Given the description of an element on the screen output the (x, y) to click on. 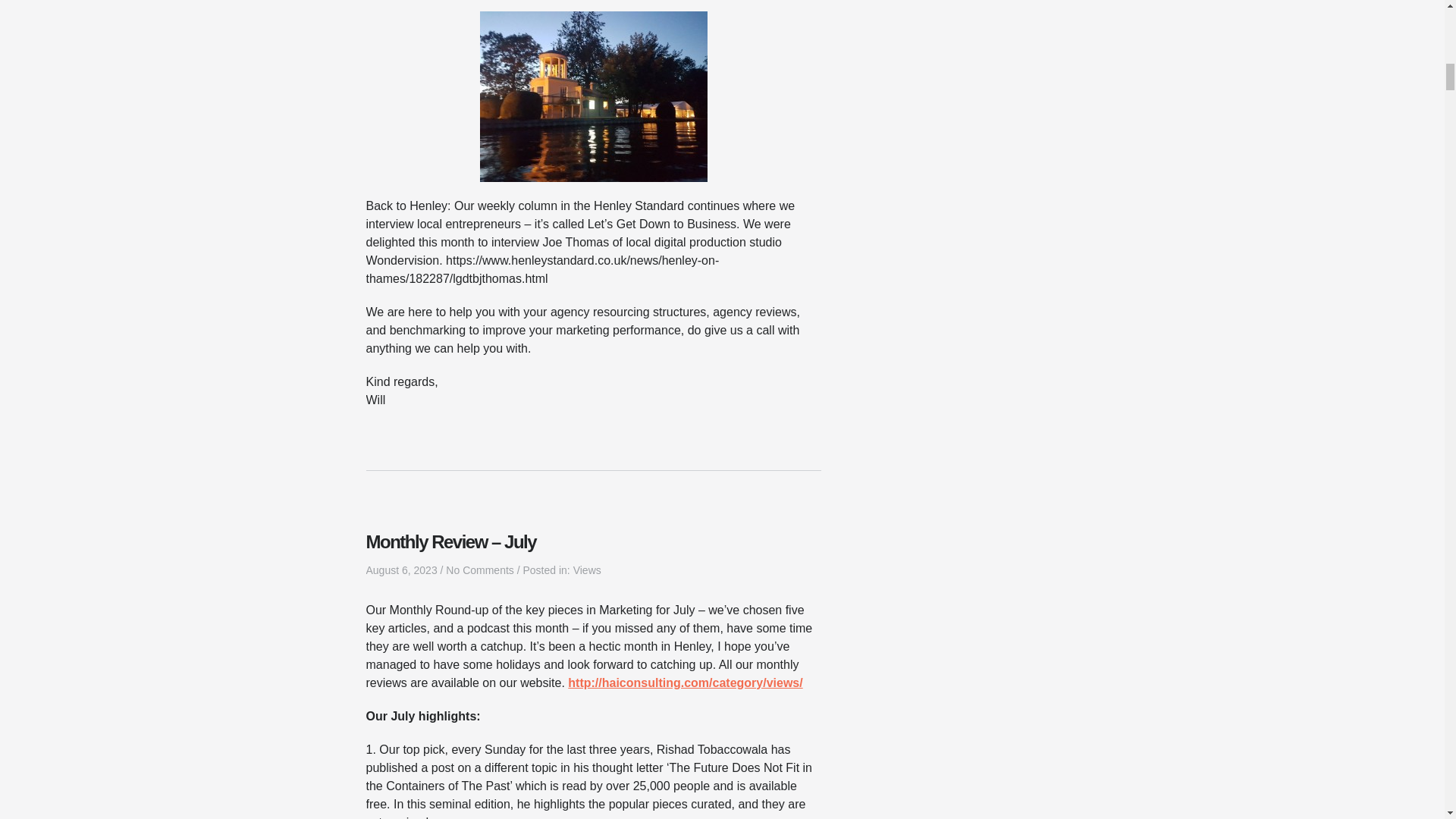
View all posts in Views (587, 570)
Views (587, 570)
No Comments (479, 570)
